Given the description of an element on the screen output the (x, y) to click on. 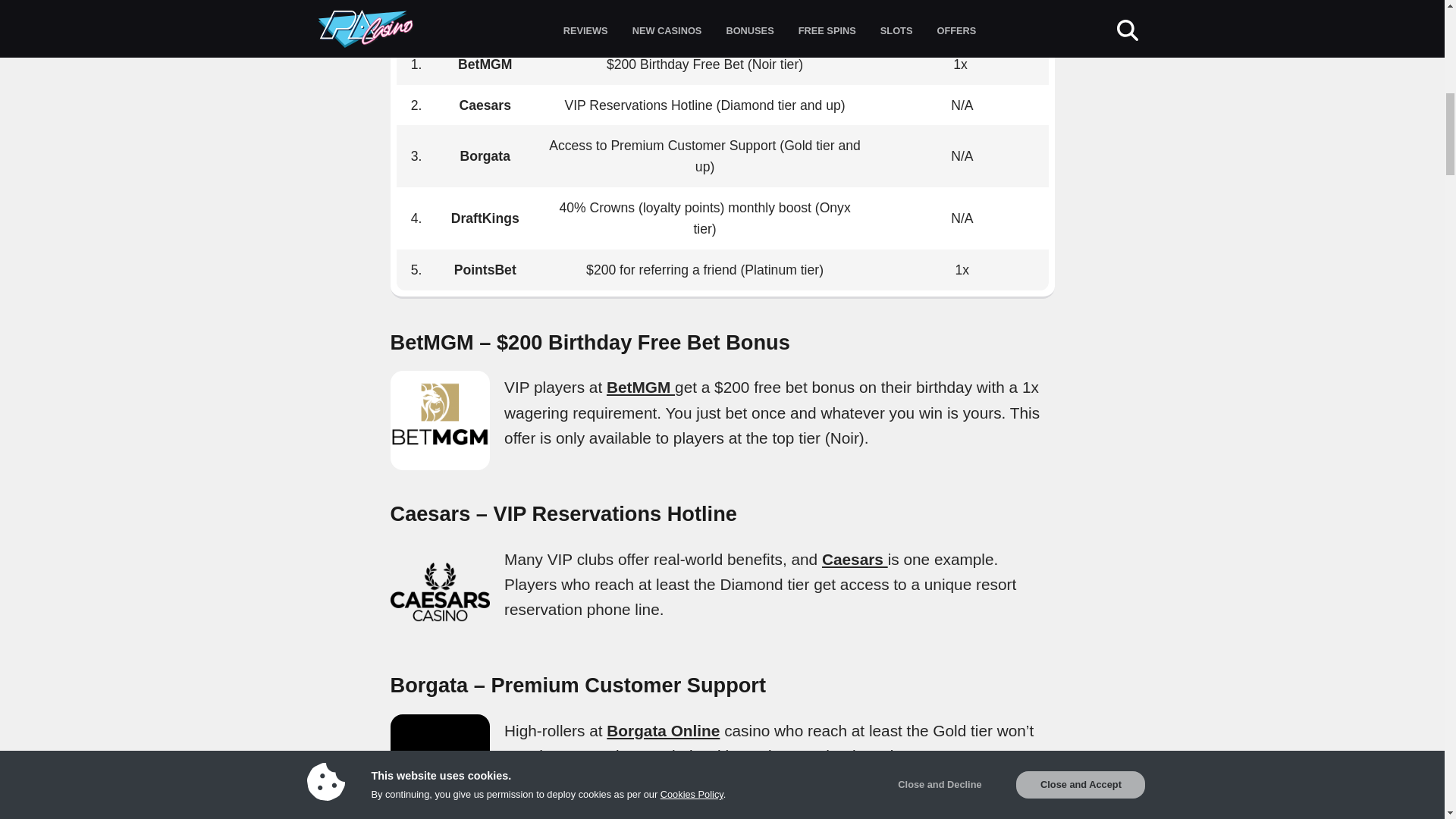
Caesars (855, 559)
BetMGM (641, 386)
Borgata Online (663, 730)
